Given the description of an element on the screen output the (x, y) to click on. 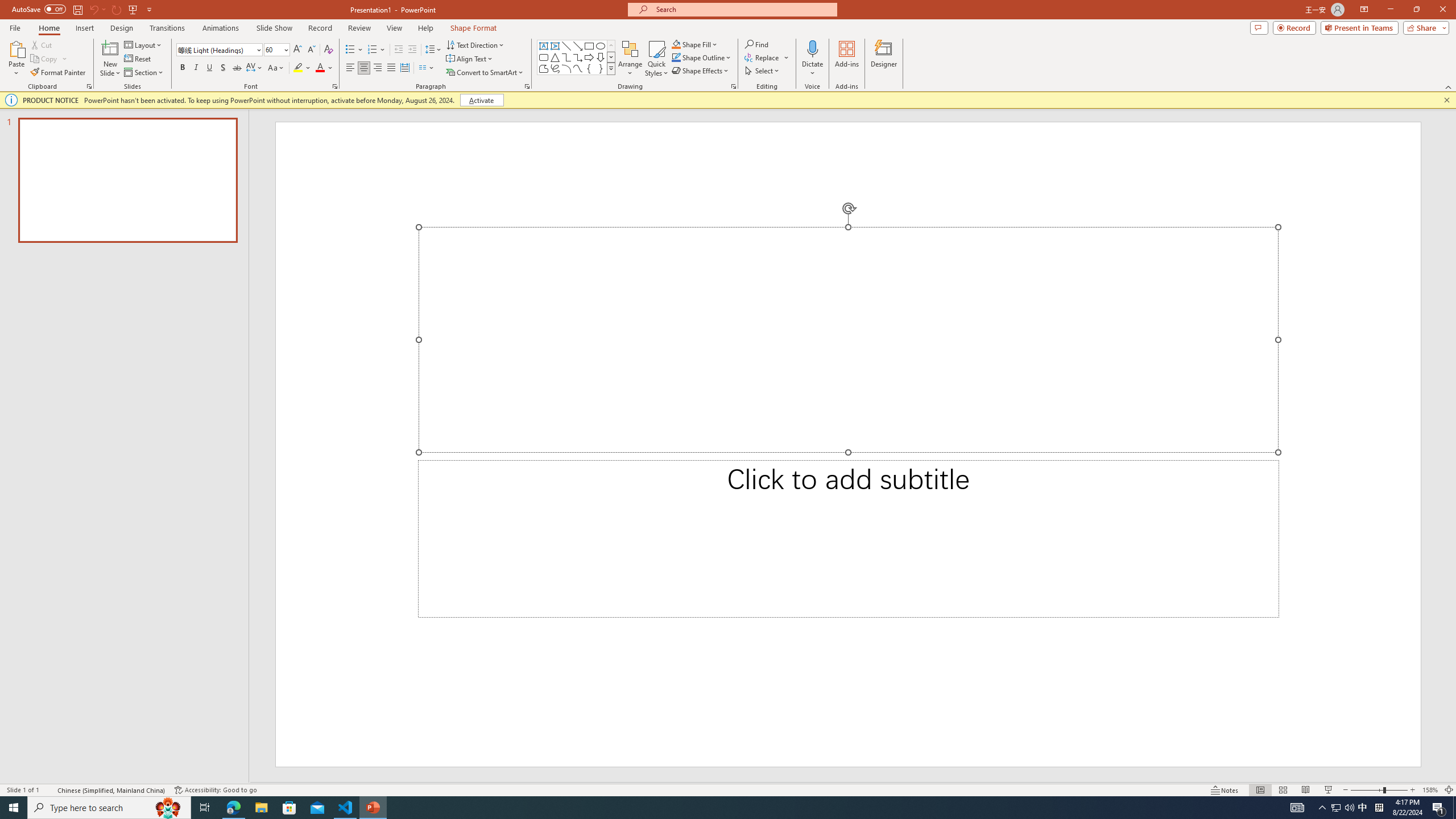
Save (77, 9)
Quick Styles (656, 58)
Italic (195, 67)
Shapes (611, 68)
Row Down (611, 56)
Normal (1260, 790)
Font... (334, 85)
Font Size (273, 49)
Shape Outline (701, 56)
Left Brace (589, 68)
Line (566, 45)
View (395, 28)
Convert to SmartArt (485, 72)
Arrow: Down (600, 57)
